Given the description of an element on the screen output the (x, y) to click on. 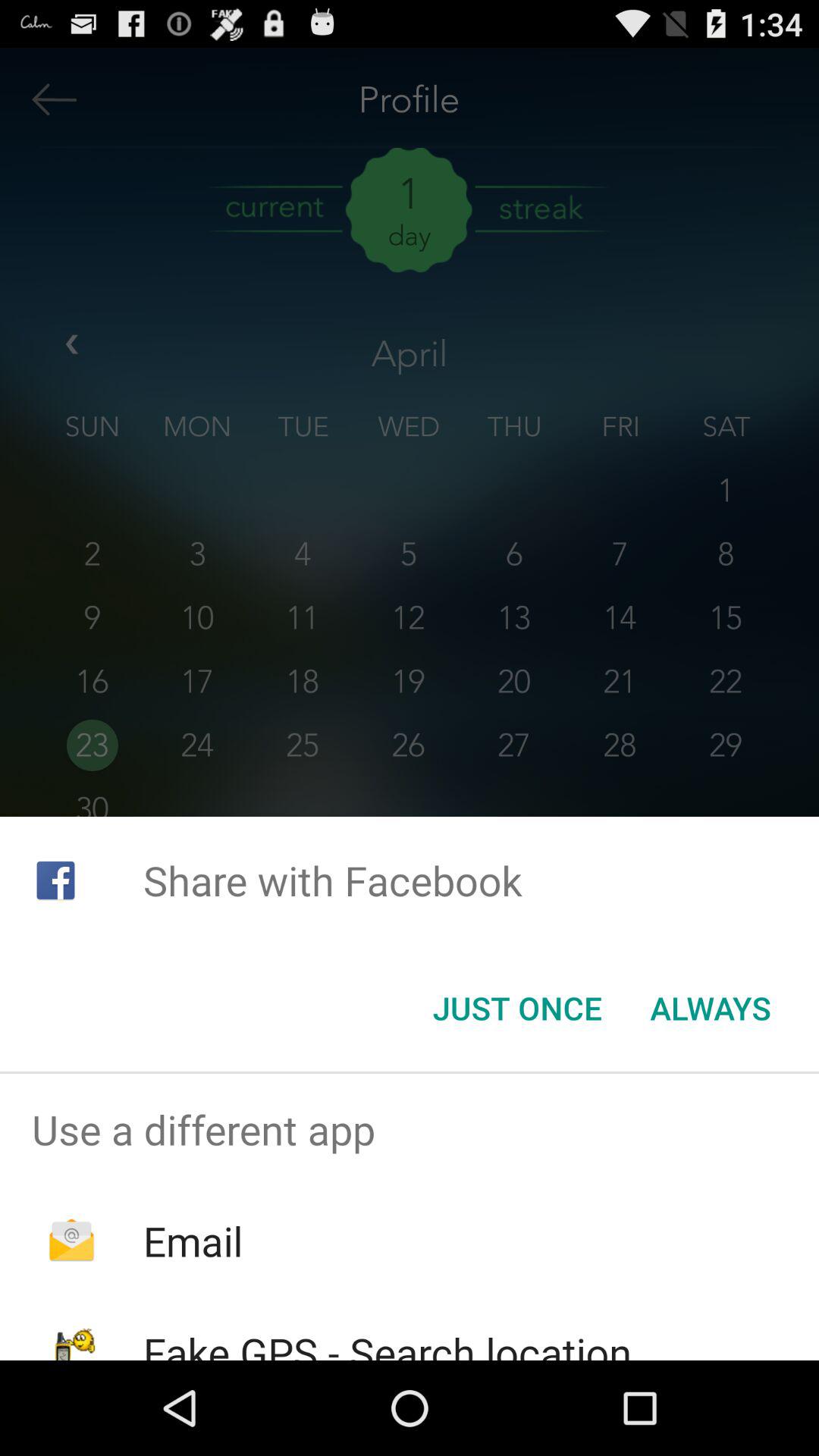
turn off the email (192, 1240)
